Given the description of an element on the screen output the (x, y) to click on. 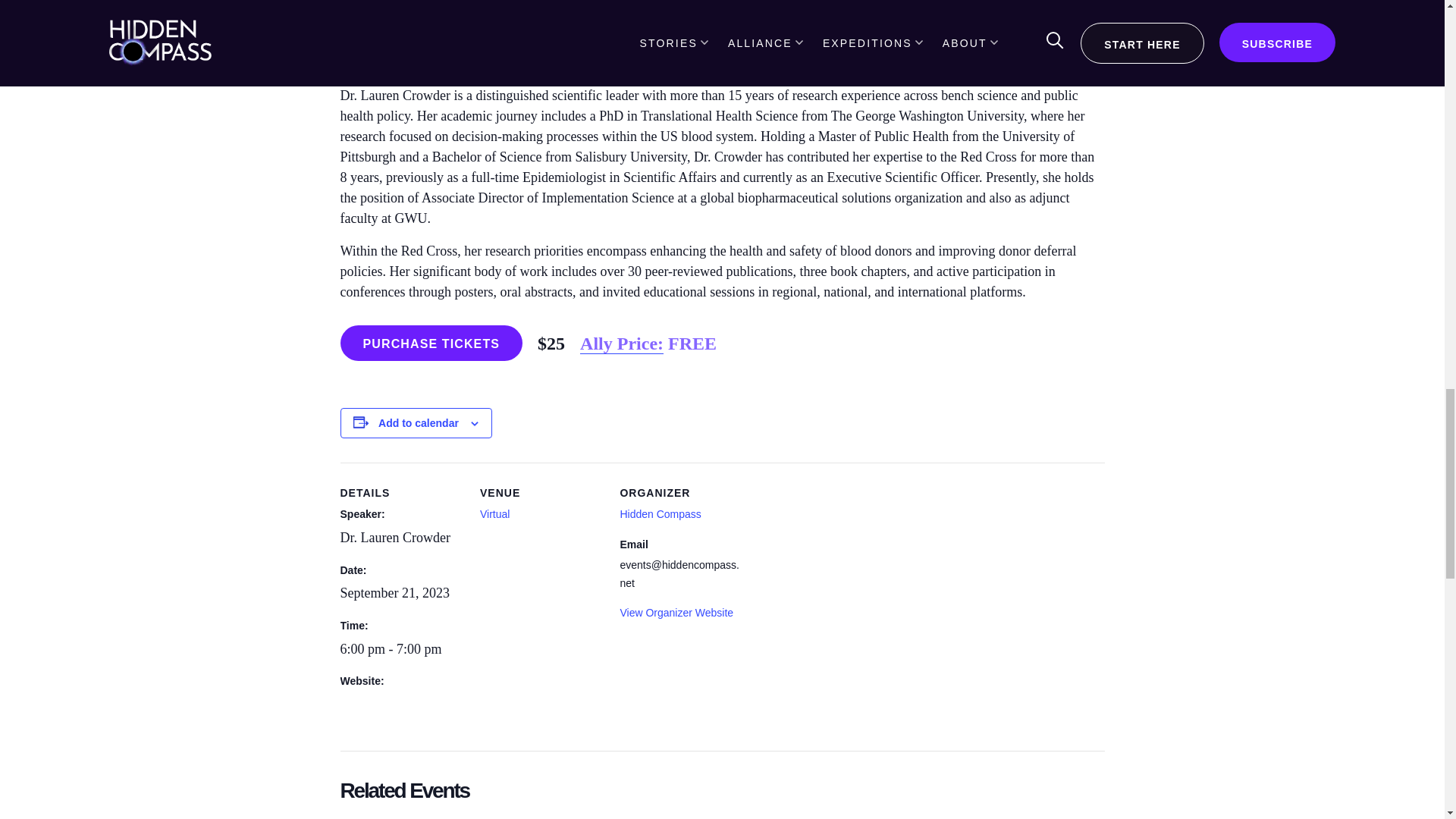
Dr. Lauren Crowder (394, 537)
Hidden Compass (660, 513)
2023-09-21 (393, 592)
2023-09-21 (400, 649)
